Given the description of an element on the screen output the (x, y) to click on. 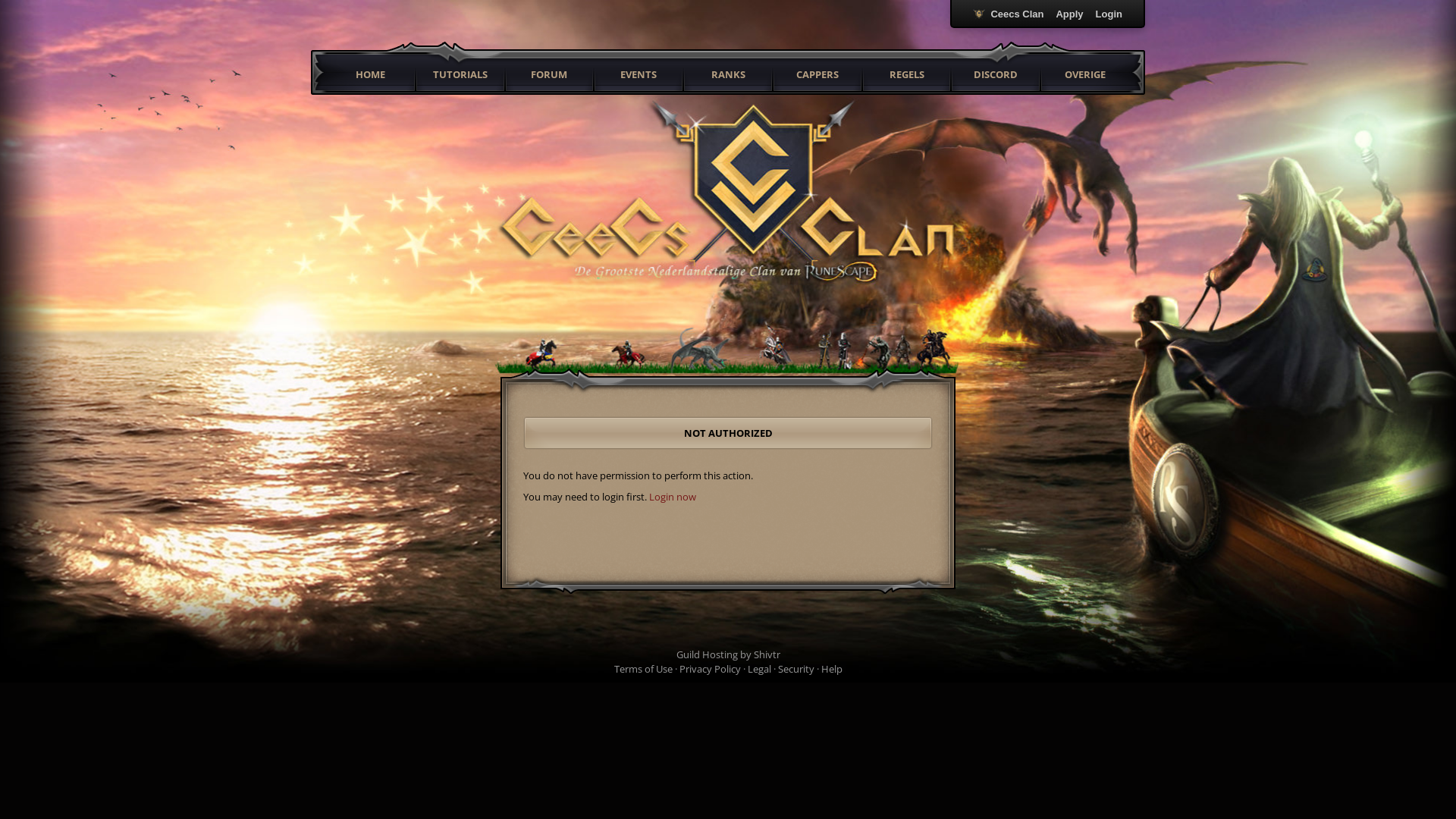
Login now Element type: text (672, 496)
REGELS Element type: text (906, 74)
DISCORD Element type: text (995, 74)
Legal Element type: text (759, 668)
Login Element type: text (1108, 13)
Apply Element type: text (1068, 13)
RANKS Element type: text (728, 74)
OVERIGE Element type: text (1084, 74)
TUTORIALS Element type: text (460, 74)
Help Element type: text (830, 668)
Privacy Policy Element type: text (709, 668)
Terms of Use Element type: text (643, 668)
CAPPERS Element type: text (817, 74)
HOME Element type: text (370, 74)
EVENTS Element type: text (638, 74)
FORUM Element type: text (548, 74)
Guild Hosting Element type: text (706, 654)
Security Element type: text (796, 668)
  Ceecs Clan Element type: text (1007, 13)
